Given the description of an element on the screen output the (x, y) to click on. 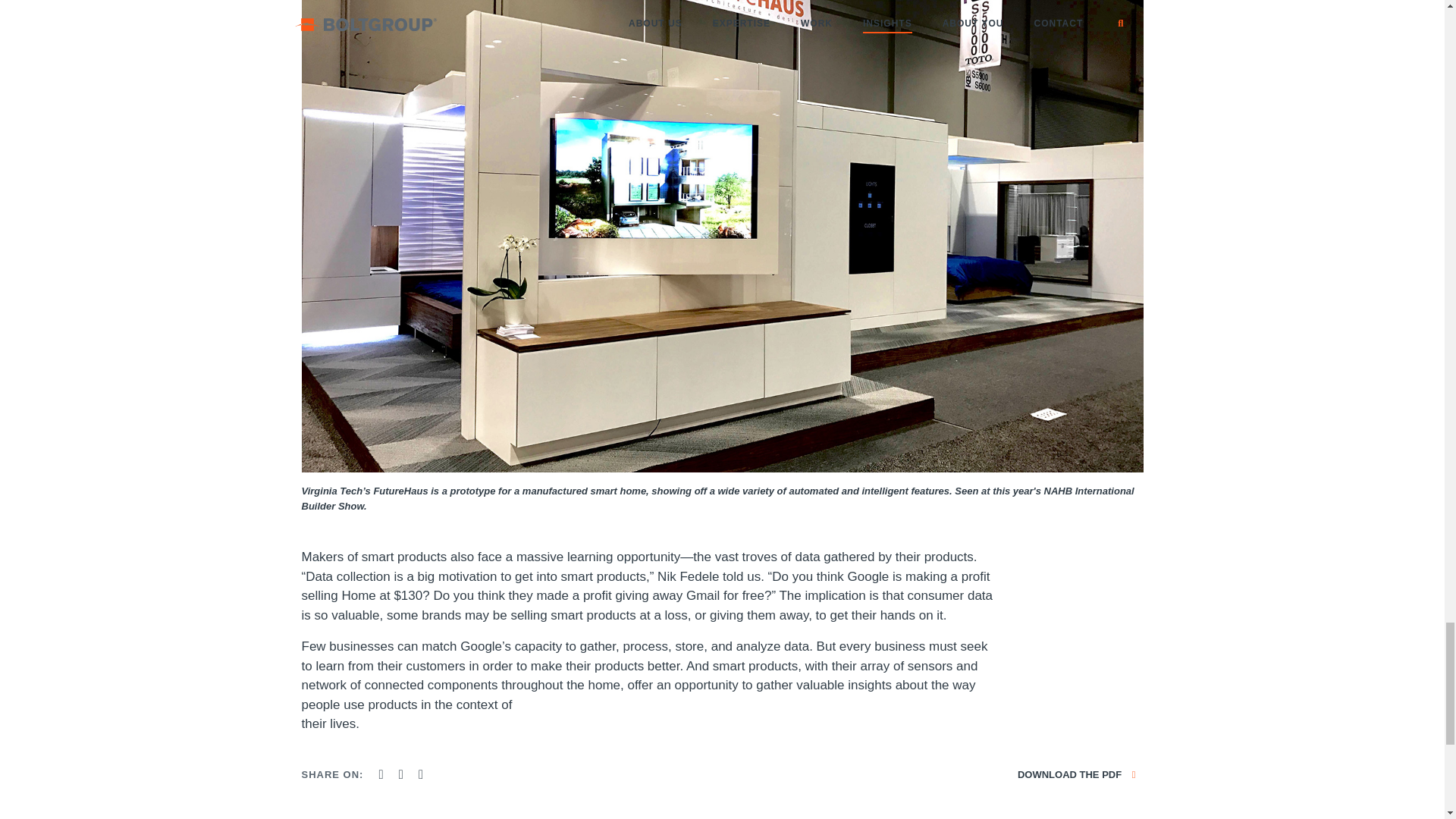
DOWNLOAD THE PDF (1076, 774)
